Given the description of an element on the screen output the (x, y) to click on. 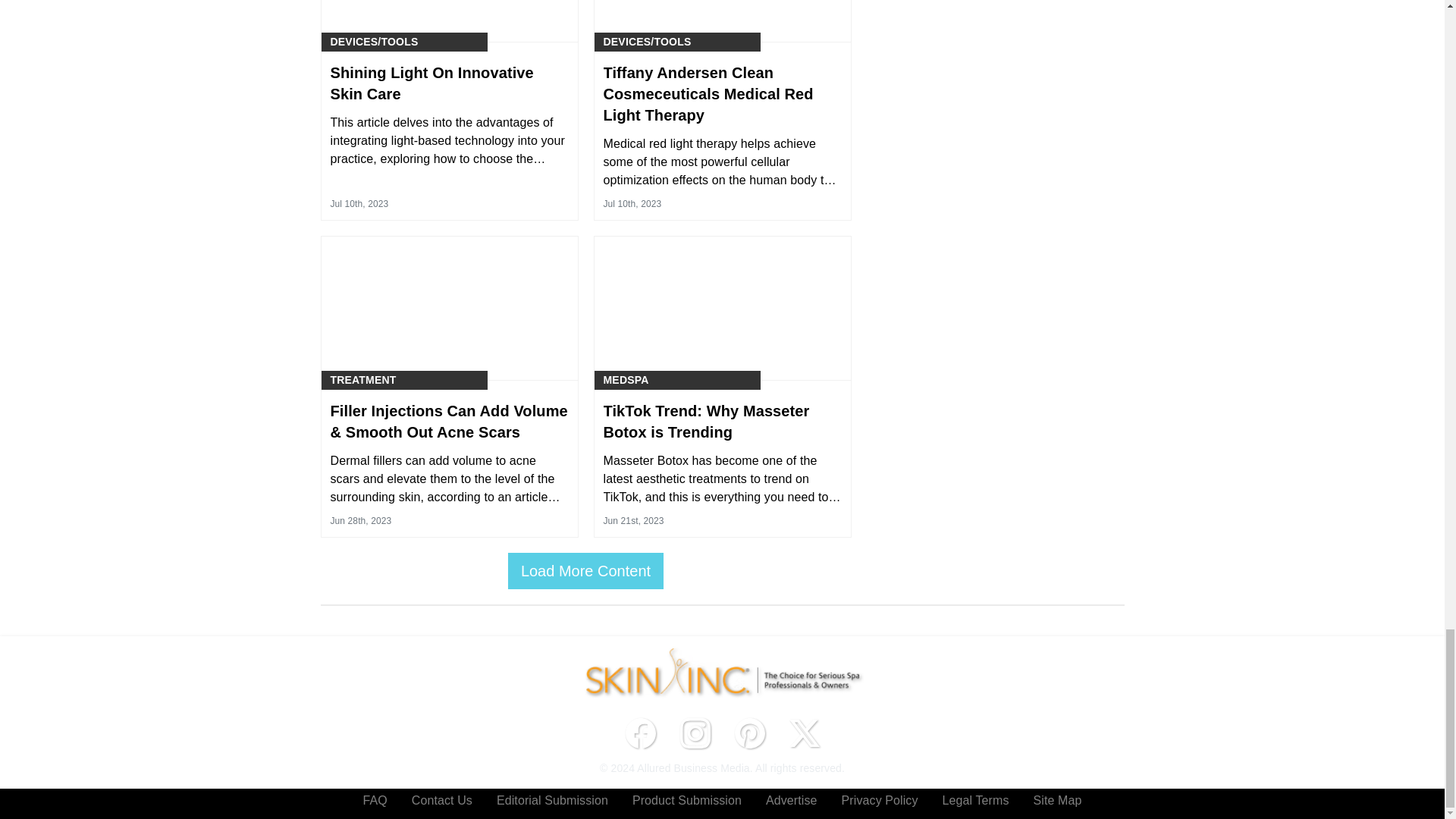
Instagram icon (694, 733)
Twitter X icon (803, 733)
Pinterest icon (748, 733)
Facebook icon (639, 733)
